Given the description of an element on the screen output the (x, y) to click on. 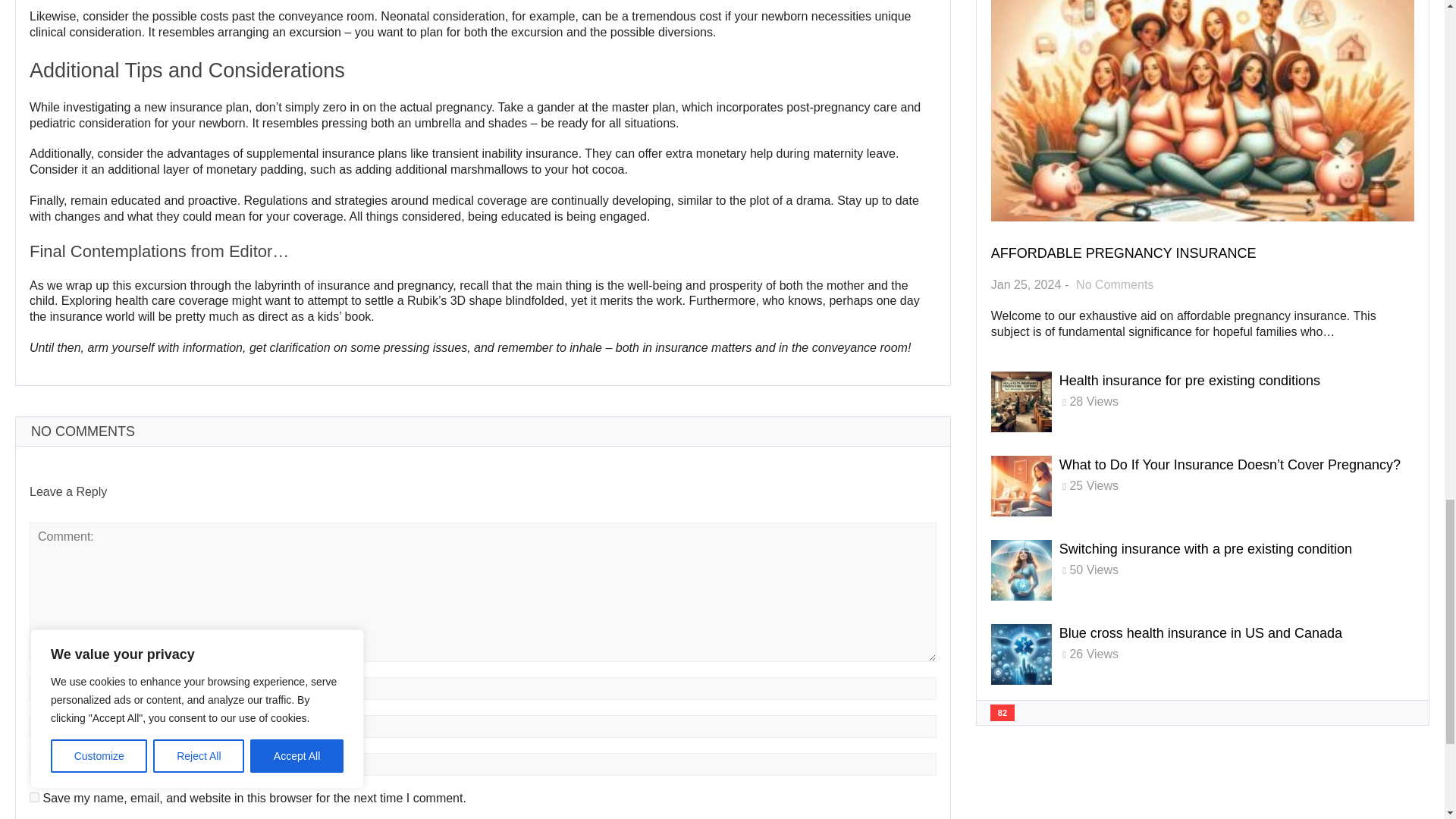
Affordable Pregnancy Insurance (1123, 253)
yes (34, 797)
Health insurance for pre existing conditions (1189, 380)
Switching insurance with a pre existing condition (1205, 548)
